Given the description of an element on the screen output the (x, y) to click on. 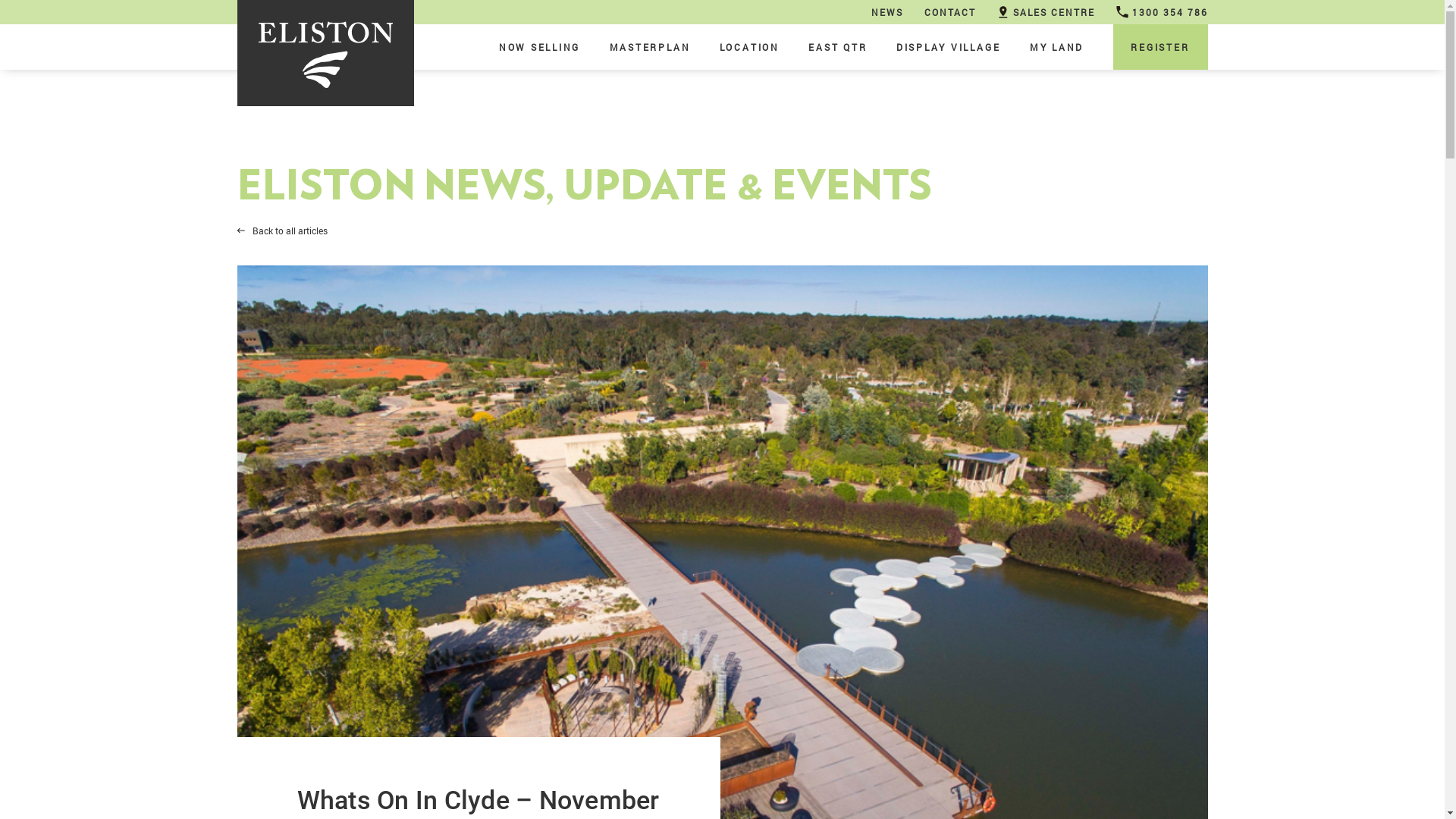
MASTERPLAN Element type: text (649, 46)
CONTACT Element type: text (949, 11)
DISPLAY VILLAGE Element type: text (948, 46)
MY LAND Element type: text (1056, 46)
NOW SELLING Element type: text (539, 46)
Skip to content Element type: text (0, 0)
Back to all articles Element type: text (281, 230)
SALES CENTRE Element type: text (1045, 11)
NEWS Element type: text (886, 11)
EAST QTR Element type: text (837, 46)
1300 354 786 Element type: text (1162, 11)
LOCATION Element type: text (749, 46)
REGISTER Element type: text (1160, 46)
